Given the description of an element on the screen output the (x, y) to click on. 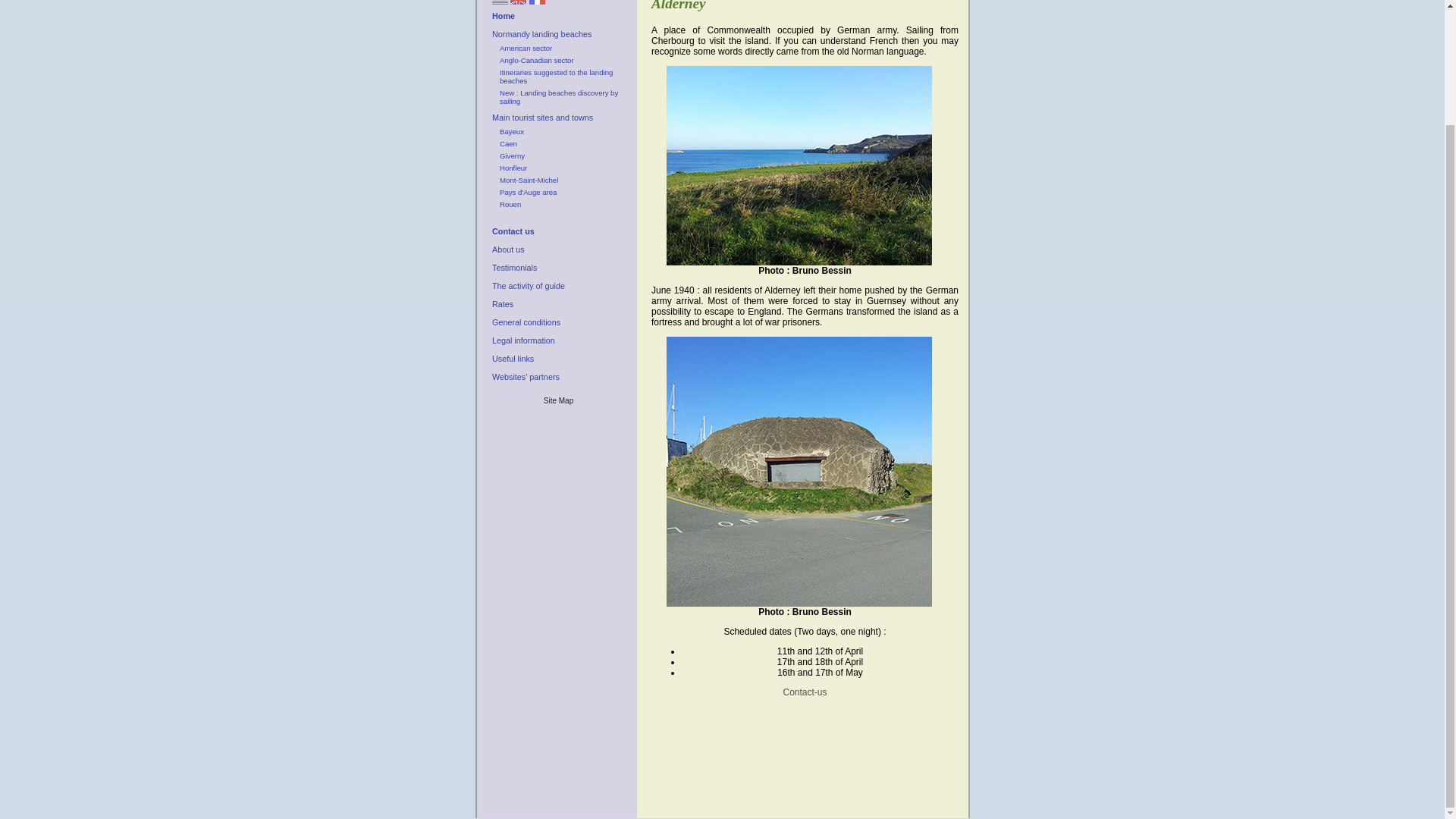
Rates (557, 303)
Caen (560, 143)
Contact-us (805, 692)
Websites' partners (557, 376)
Home (557, 15)
General conditions (557, 321)
American sector (560, 48)
Honfleur (560, 167)
Testimonials (557, 267)
Pays d'Auge area (560, 192)
